Given the description of an element on the screen output the (x, y) to click on. 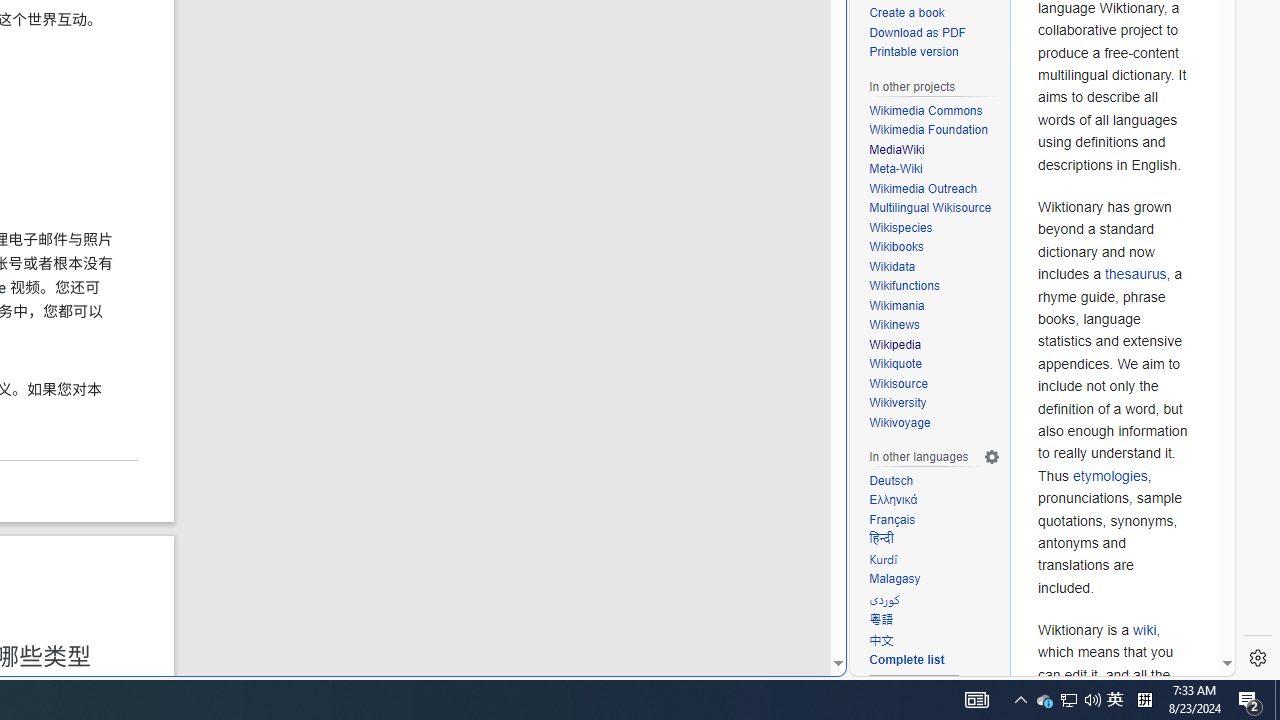
Printable version (913, 51)
thesaurus (1135, 273)
